Given the description of an element on the screen output the (x, y) to click on. 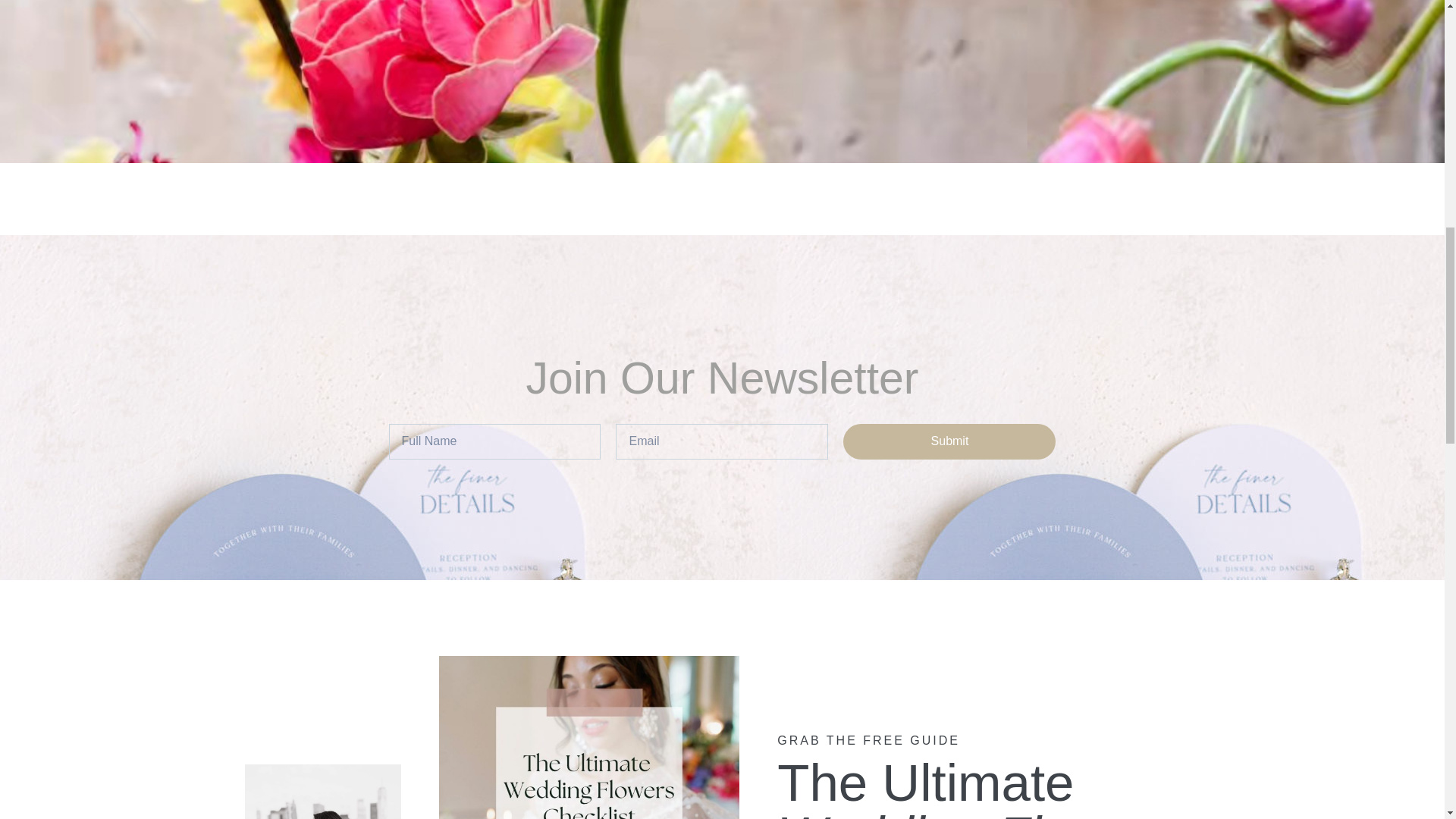
Submit (949, 441)
